Given the description of an element on the screen output the (x, y) to click on. 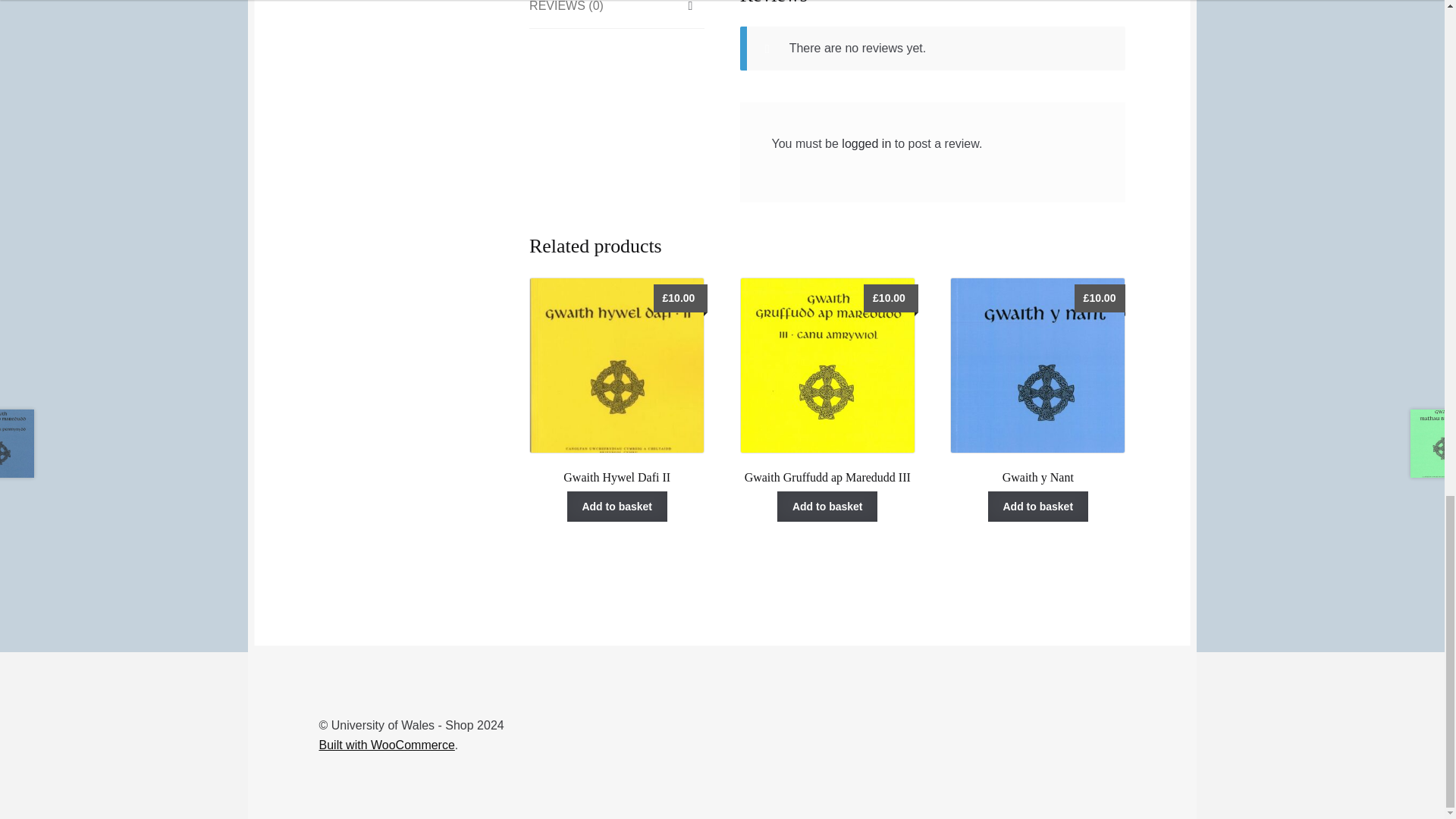
logged in (866, 143)
WooCommerce - The Best eCommerce Platform for WordPress (386, 744)
Add to basket (827, 506)
Add to basket (616, 506)
